Given the description of an element on the screen output the (x, y) to click on. 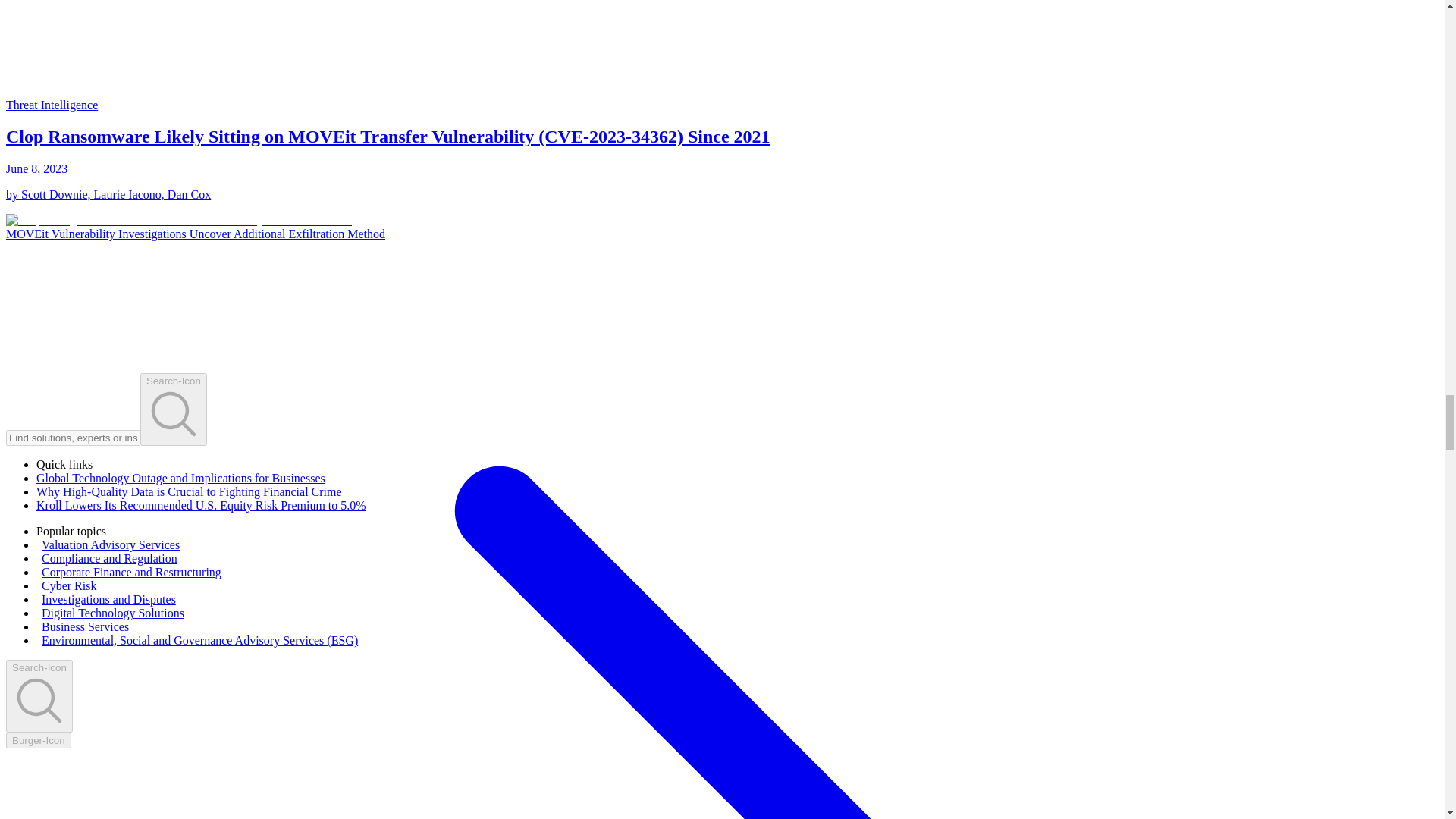
Corporate Finance and Restructuring (131, 571)
Why High-Quality Data is Crucial to Fighting Financial Crime (189, 491)
Search-Icon (38, 696)
Business Services (85, 626)
Global Technology Outage and Implications for Businesses (180, 477)
Cyber Risk (69, 585)
dropdown (38, 740)
Investigations and Disputes (109, 599)
Search-Icon (172, 409)
Burger-Icon (38, 740)
